Given the description of an element on the screen output the (x, y) to click on. 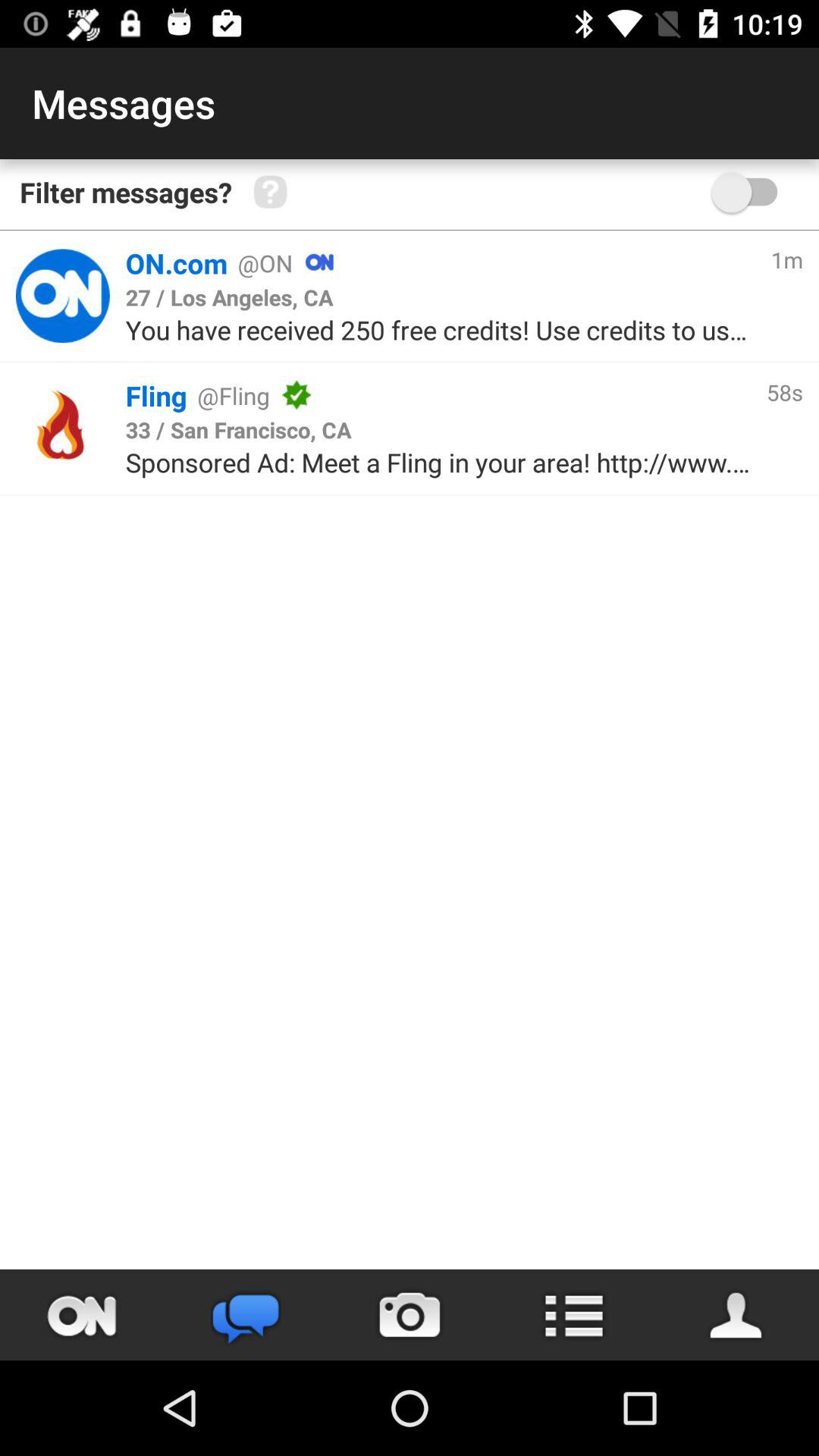
select icon below the 1m (784, 392)
